Given the description of an element on the screen output the (x, y) to click on. 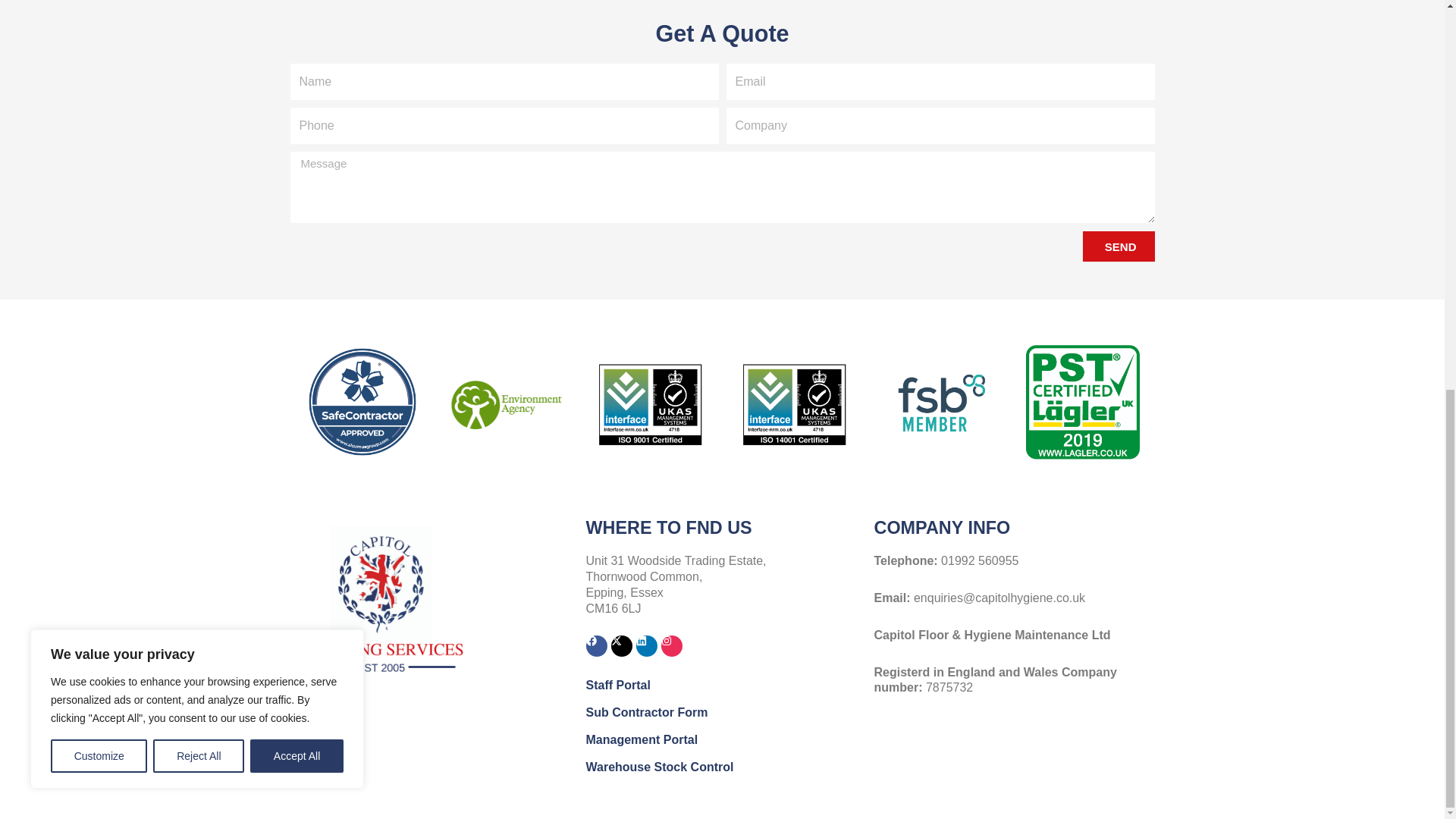
Customize (98, 15)
Accept All (296, 15)
Reject All (198, 15)
